Given the description of an element on the screen output the (x, y) to click on. 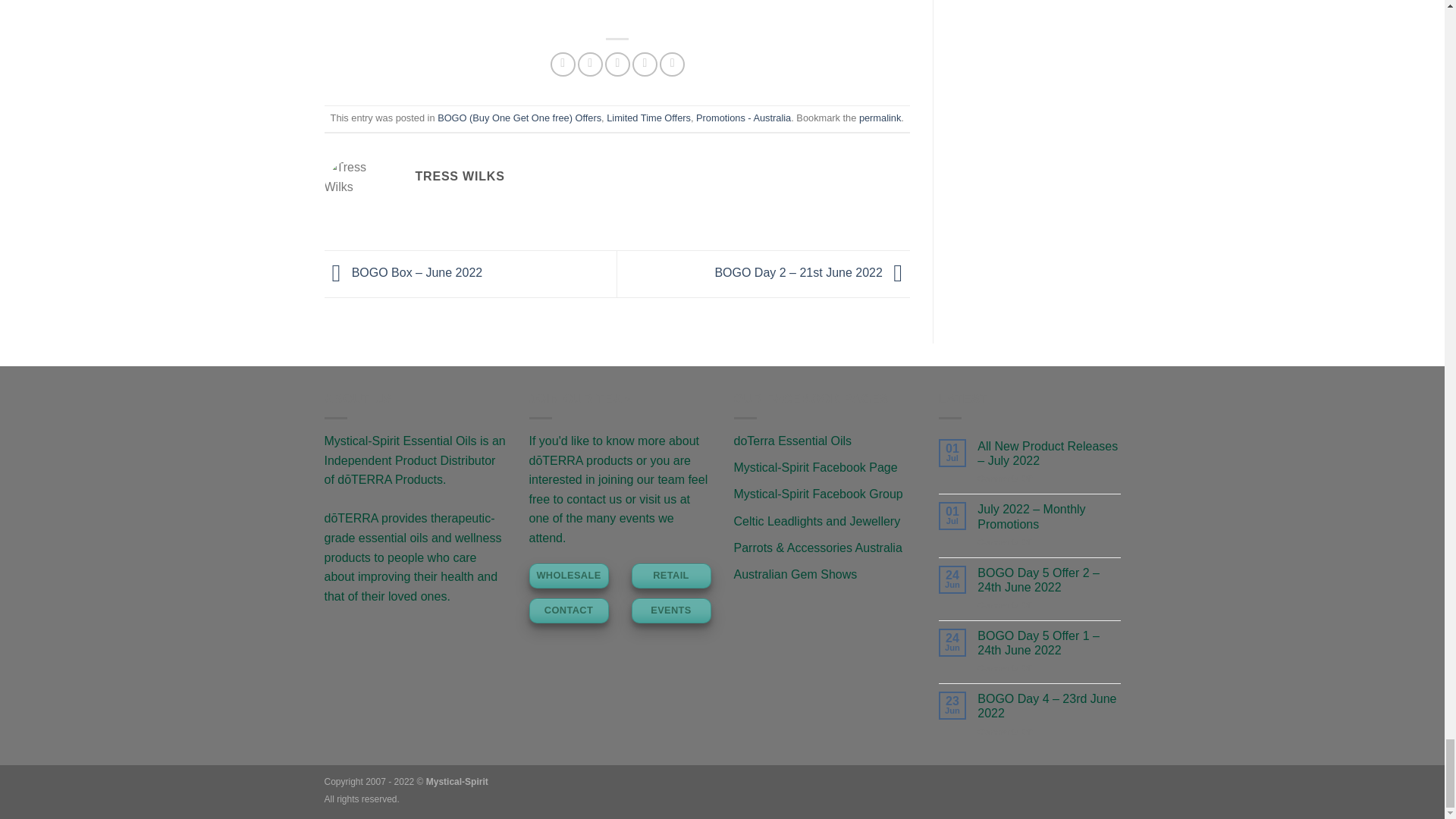
Pin on Pinterest (644, 64)
Share on Facebook (562, 64)
Email to a Friend (617, 64)
Share on Twitter (590, 64)
